Given the description of an element on the screen output the (x, y) to click on. 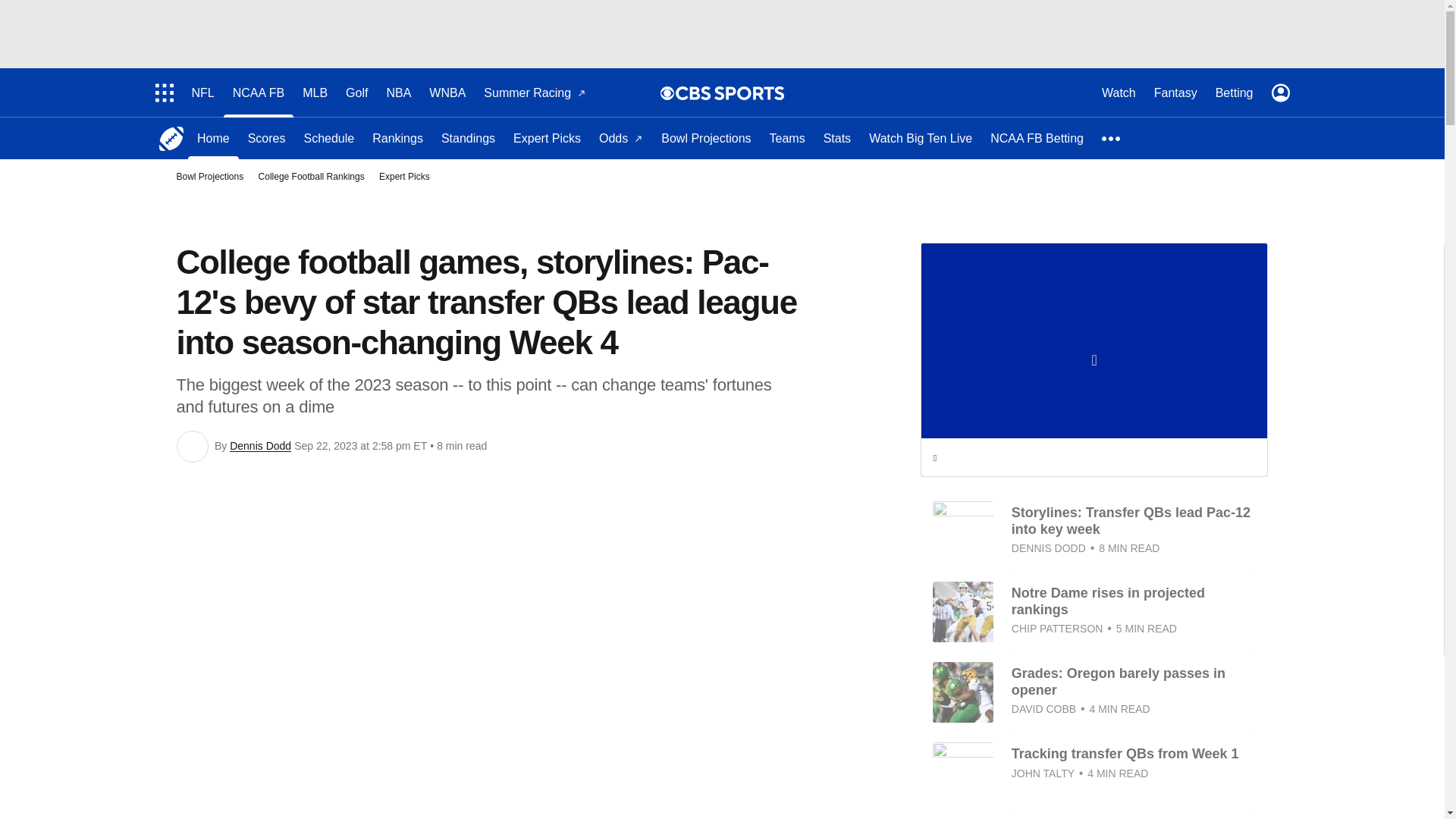
CBS Logo (729, 92)
SportsNcaafb (170, 137)
CBS Eye (667, 92)
